Given the description of an element on the screen output the (x, y) to click on. 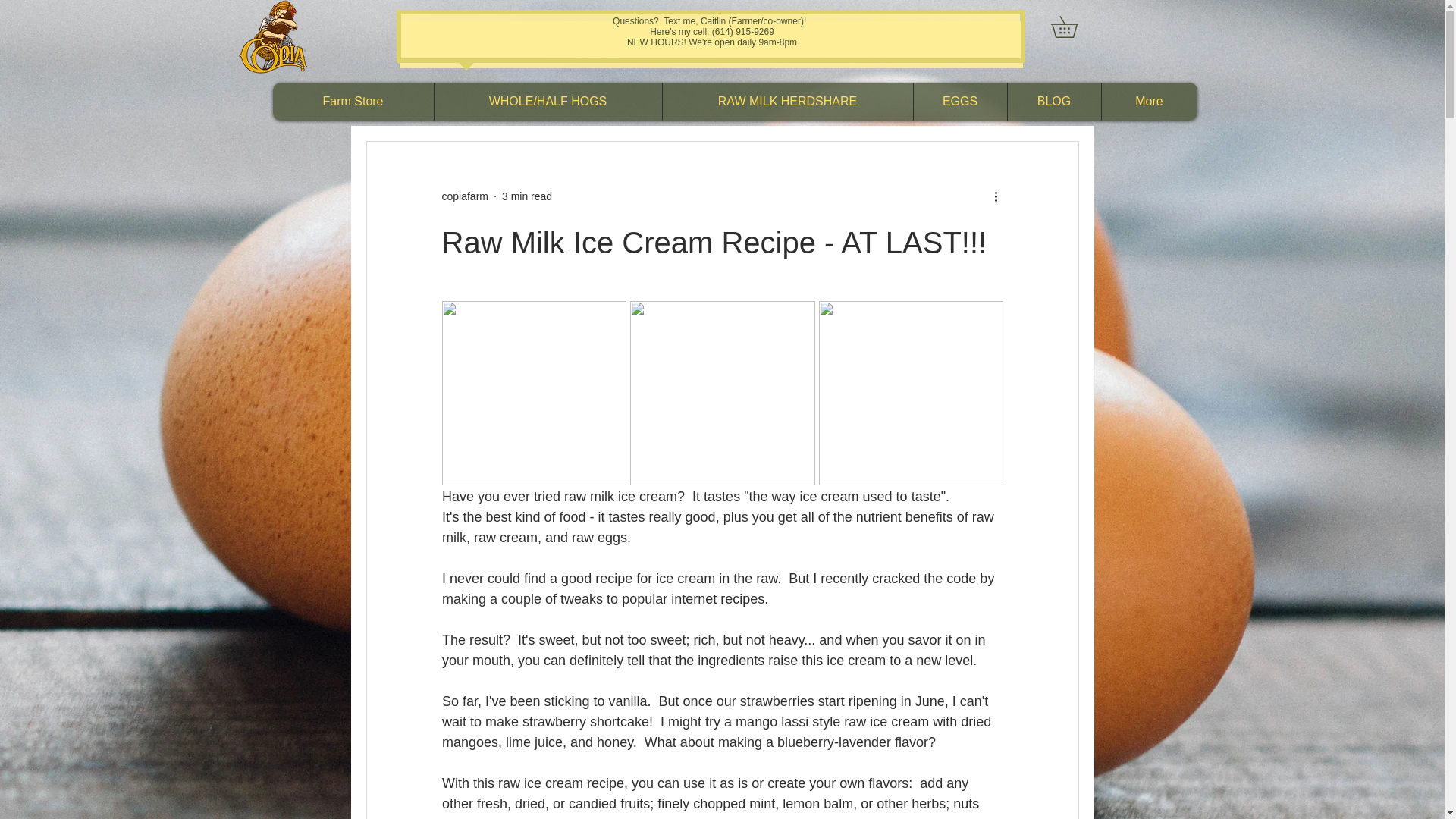
3 min read (526, 195)
RAW MILK HERDSHARE (786, 101)
copiafarm (464, 195)
copiafarm (464, 195)
EGGS (959, 101)
BLOG (1053, 101)
Farm Store (353, 101)
